Given the description of an element on the screen output the (x, y) to click on. 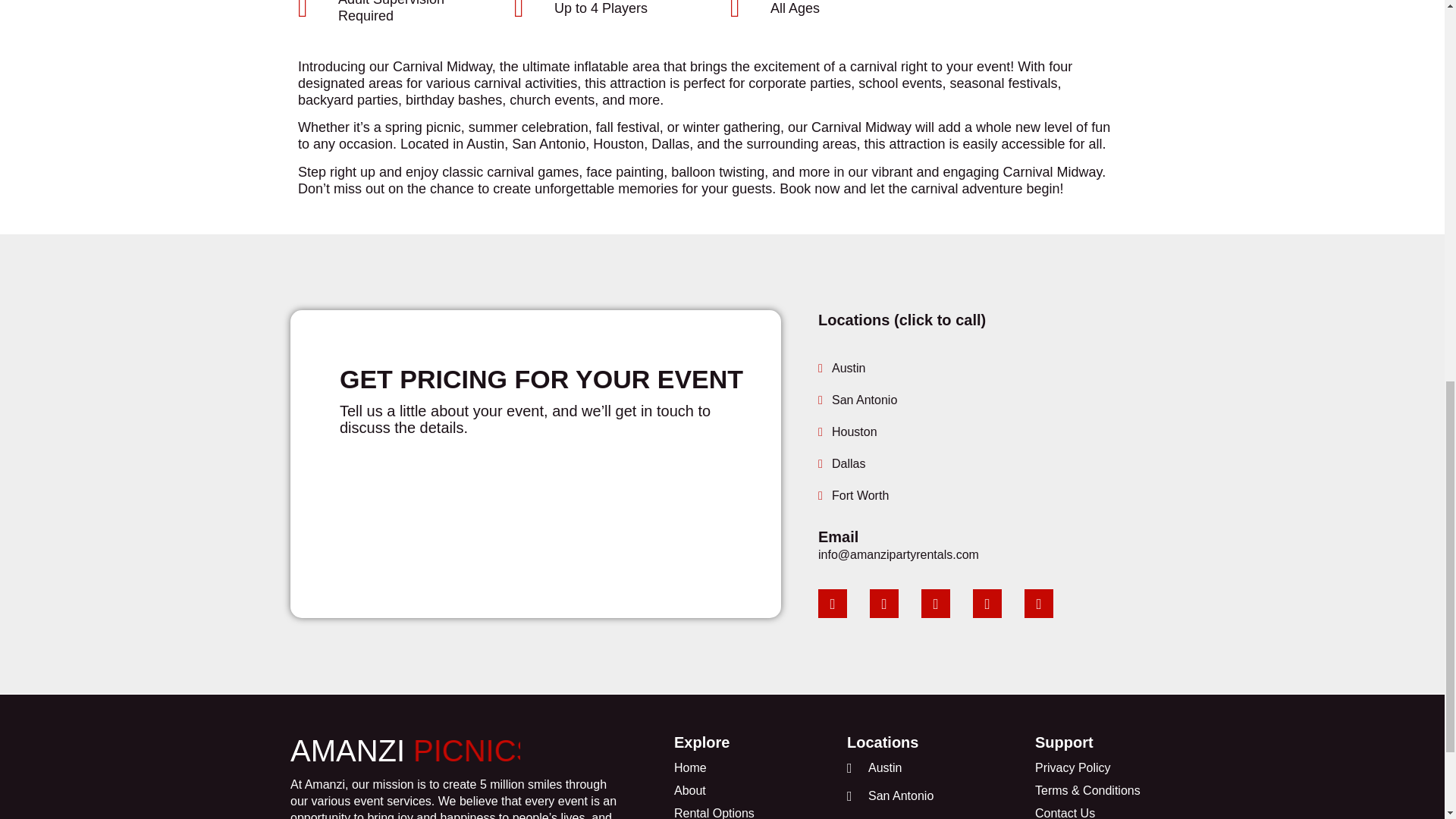
General Contact Form (535, 511)
